Given the description of an element on the screen output the (x, y) to click on. 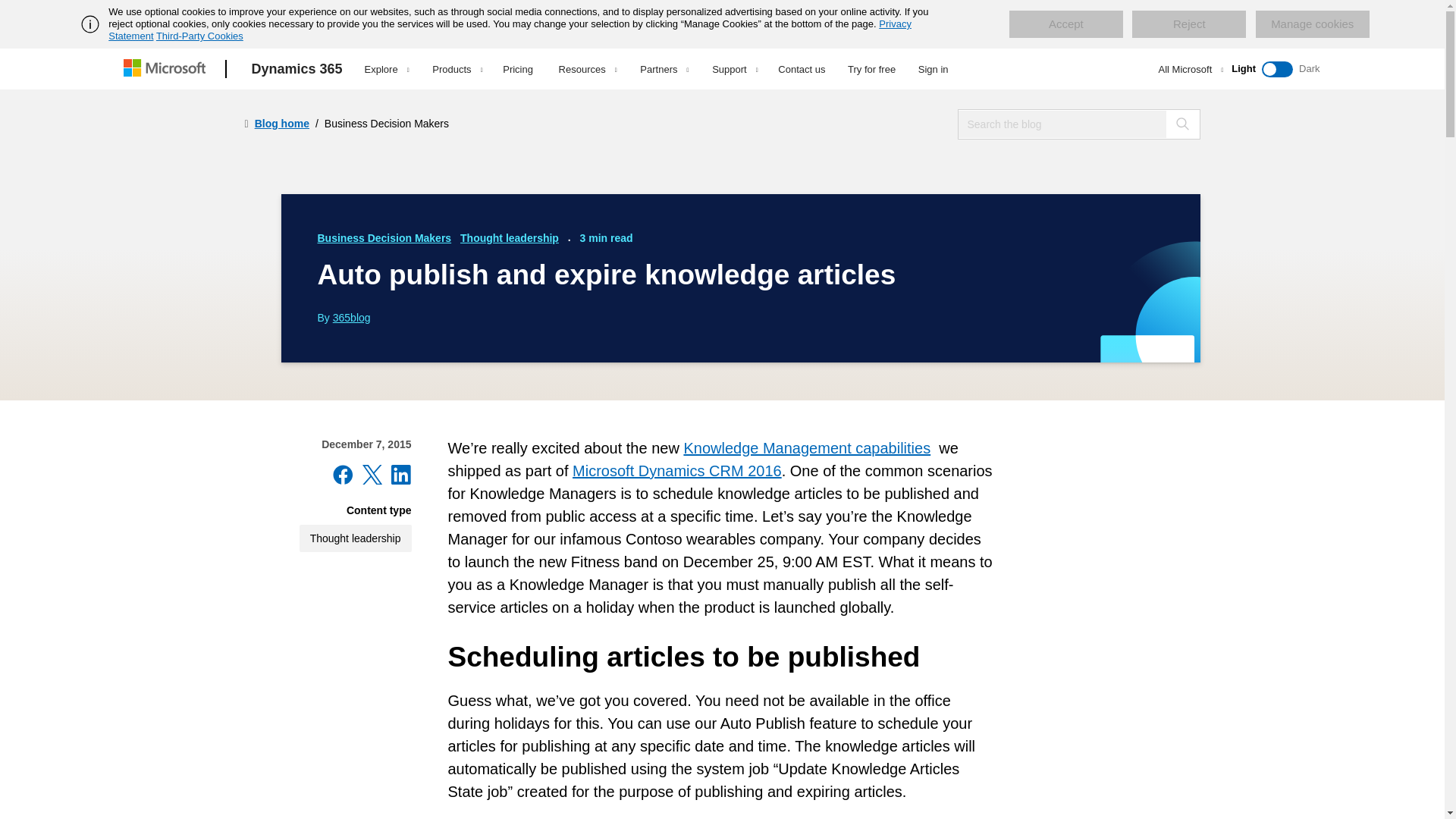
Reject (1189, 23)
Privacy Statement (509, 29)
Manage cookies (1312, 23)
Dynamics 365 (297, 69)
Explore (387, 69)
Products (457, 69)
Accept (1065, 23)
Microsoft (167, 69)
Third-Party Cookies (199, 35)
